Given the description of an element on the screen output the (x, y) to click on. 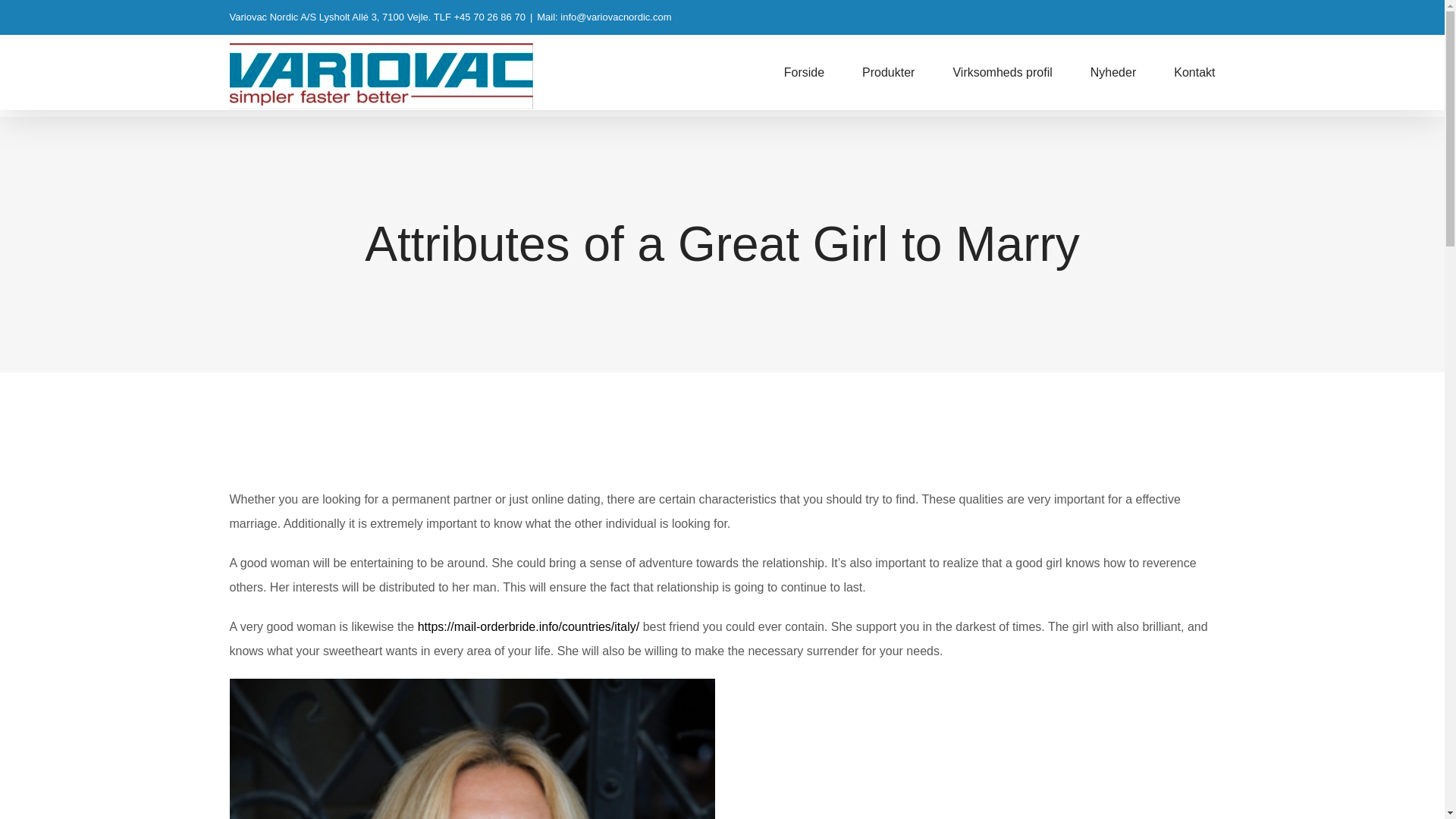
Virksomheds profil (1001, 72)
Nyheder (1112, 72)
Forside (804, 72)
Kontakt (1193, 72)
Produkter (887, 72)
